Given the description of an element on the screen output the (x, y) to click on. 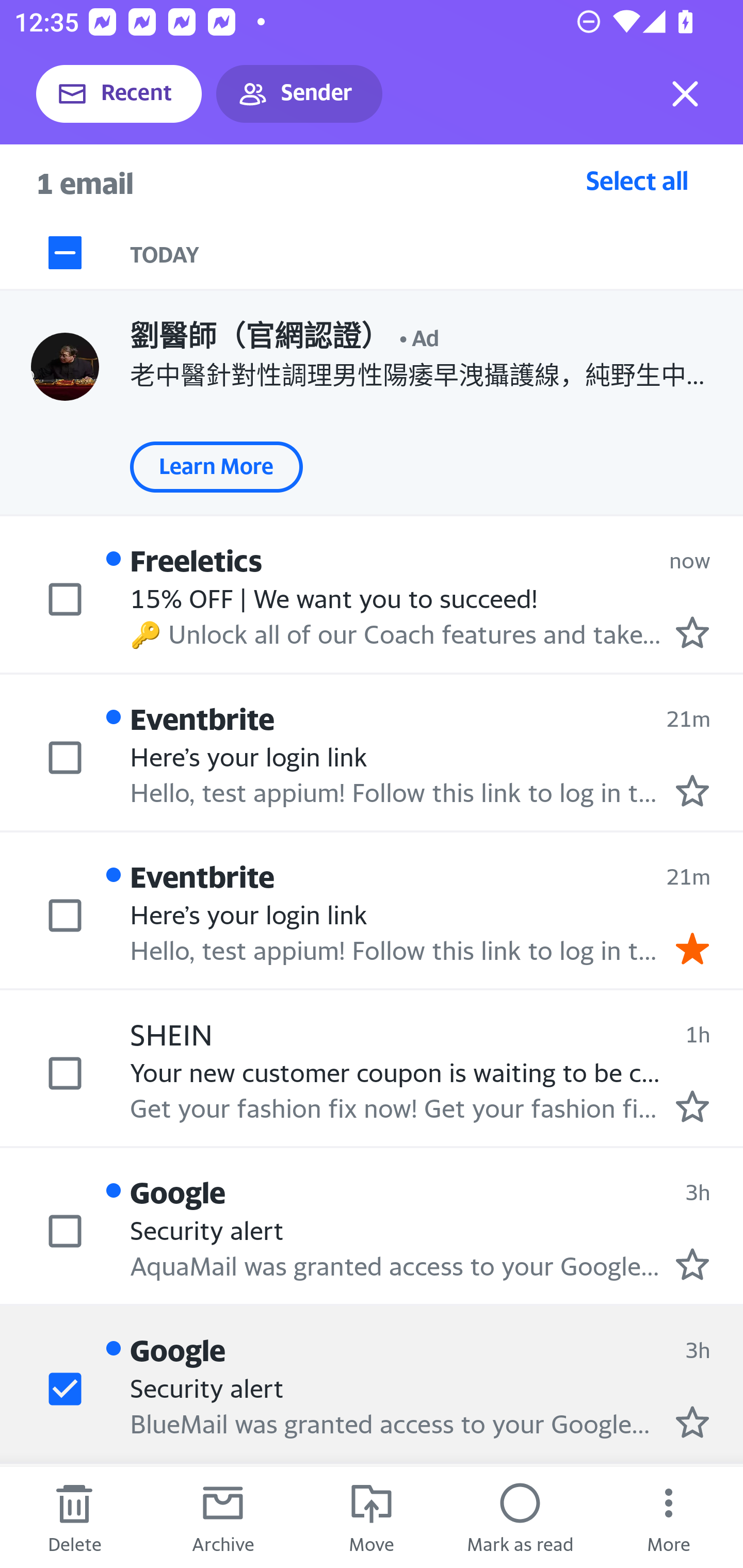
Sender (299, 93)
Exit selection mode (684, 93)
Select all (637, 180)
TODAY (436, 252)
Mark as starred. (692, 632)
Mark as starred. (692, 791)
Remove star. (692, 947)
Mark as starred. (692, 1106)
Mark as starred. (692, 1264)
Mark as starred. (692, 1421)
Delete (74, 1517)
Archive (222, 1517)
Move (371, 1517)
Mark as read (519, 1517)
More (668, 1517)
